Given the description of an element on the screen output the (x, y) to click on. 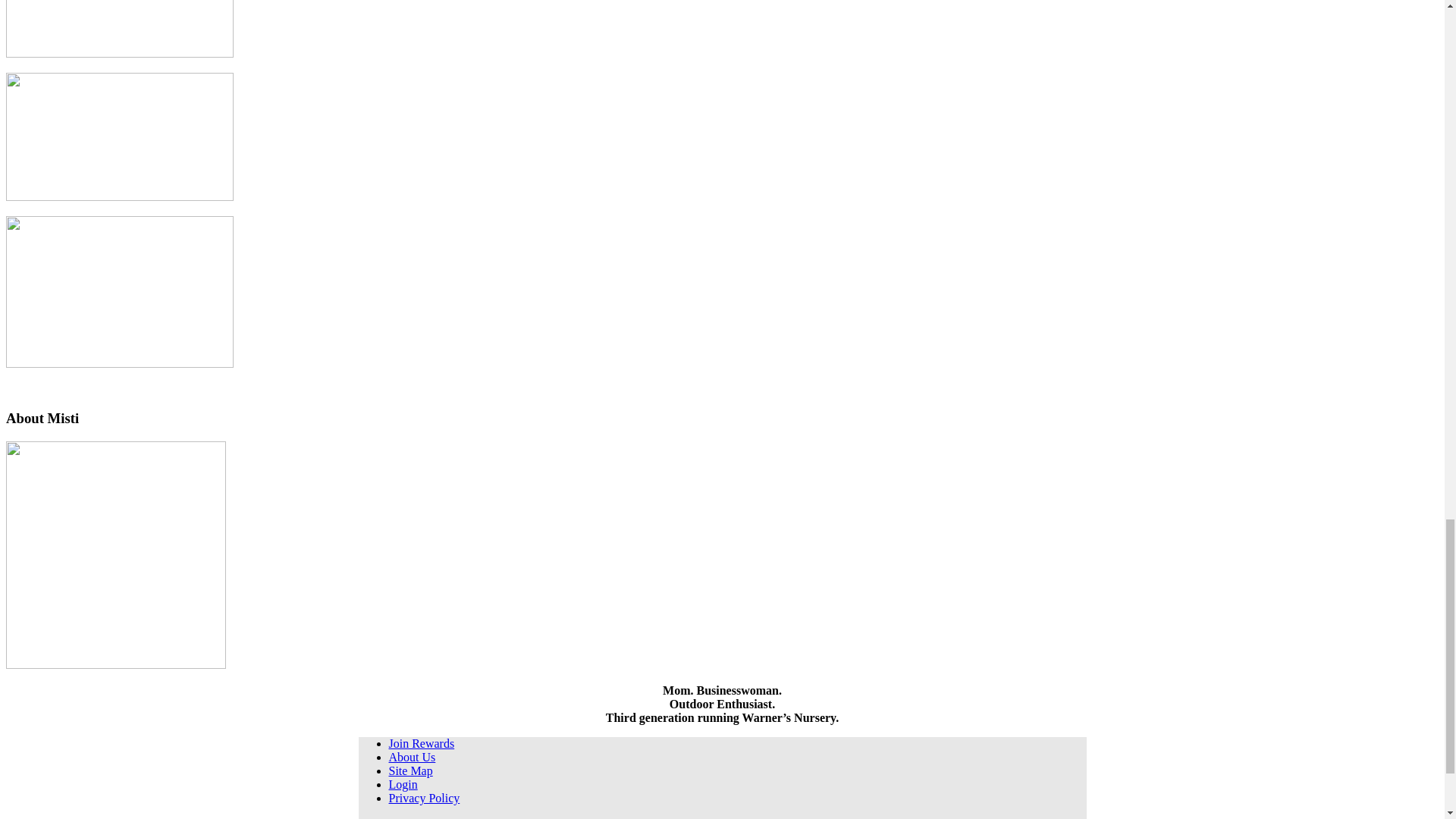
About Us (411, 757)
Login (402, 784)
Privacy Policy (424, 797)
Login to the admin (402, 784)
Site Map (410, 770)
Join Rewards (421, 743)
